Given the description of an element on the screen output the (x, y) to click on. 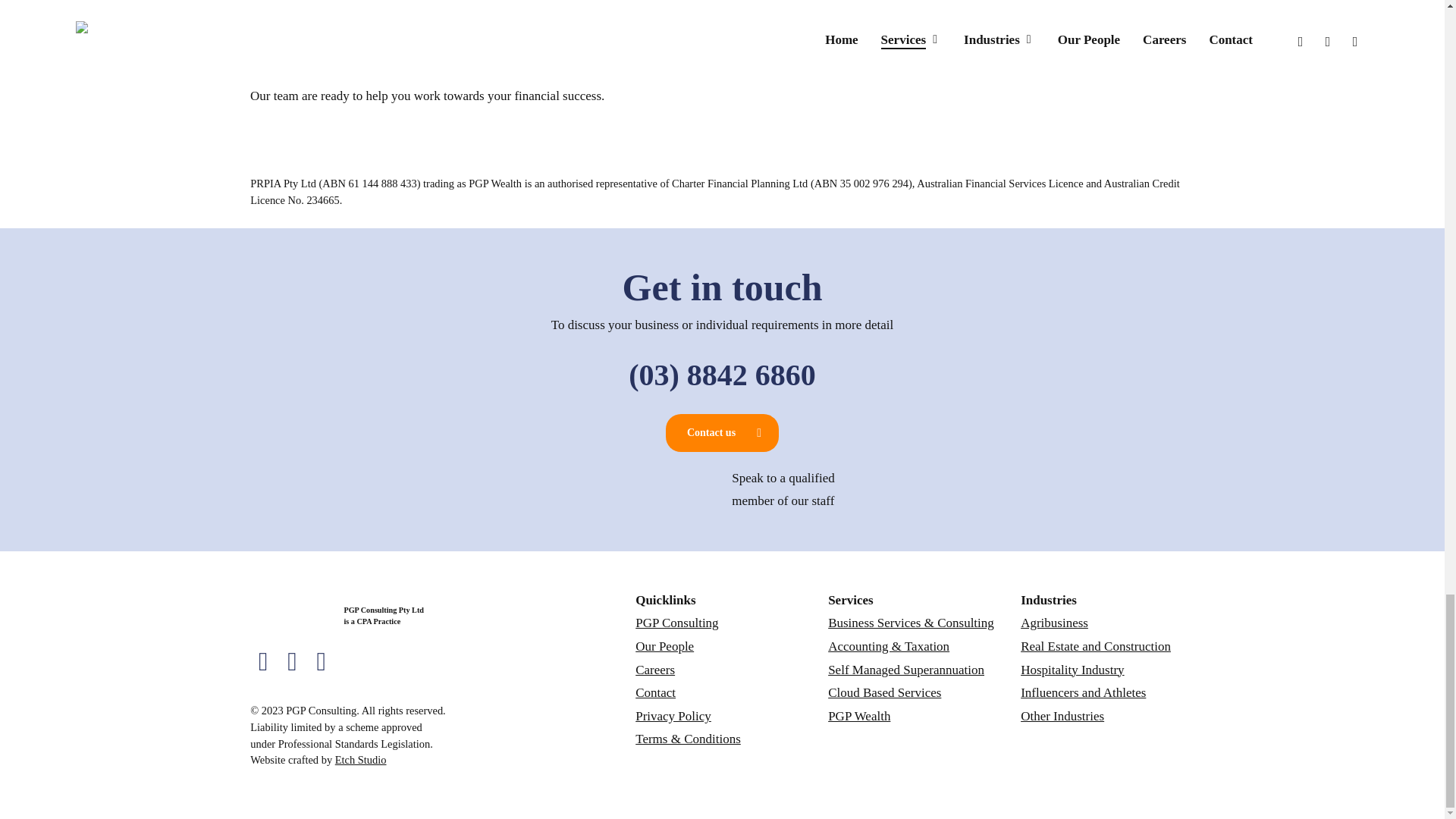
Careers (654, 669)
Etch Studio (360, 759)
Our People (664, 646)
Privacy Policy (672, 716)
PGP Consulting (675, 622)
Contact us (721, 433)
Self Managed Superannuation (906, 669)
Contact (654, 692)
Cloud Based Services (884, 692)
